Given the description of an element on the screen output the (x, y) to click on. 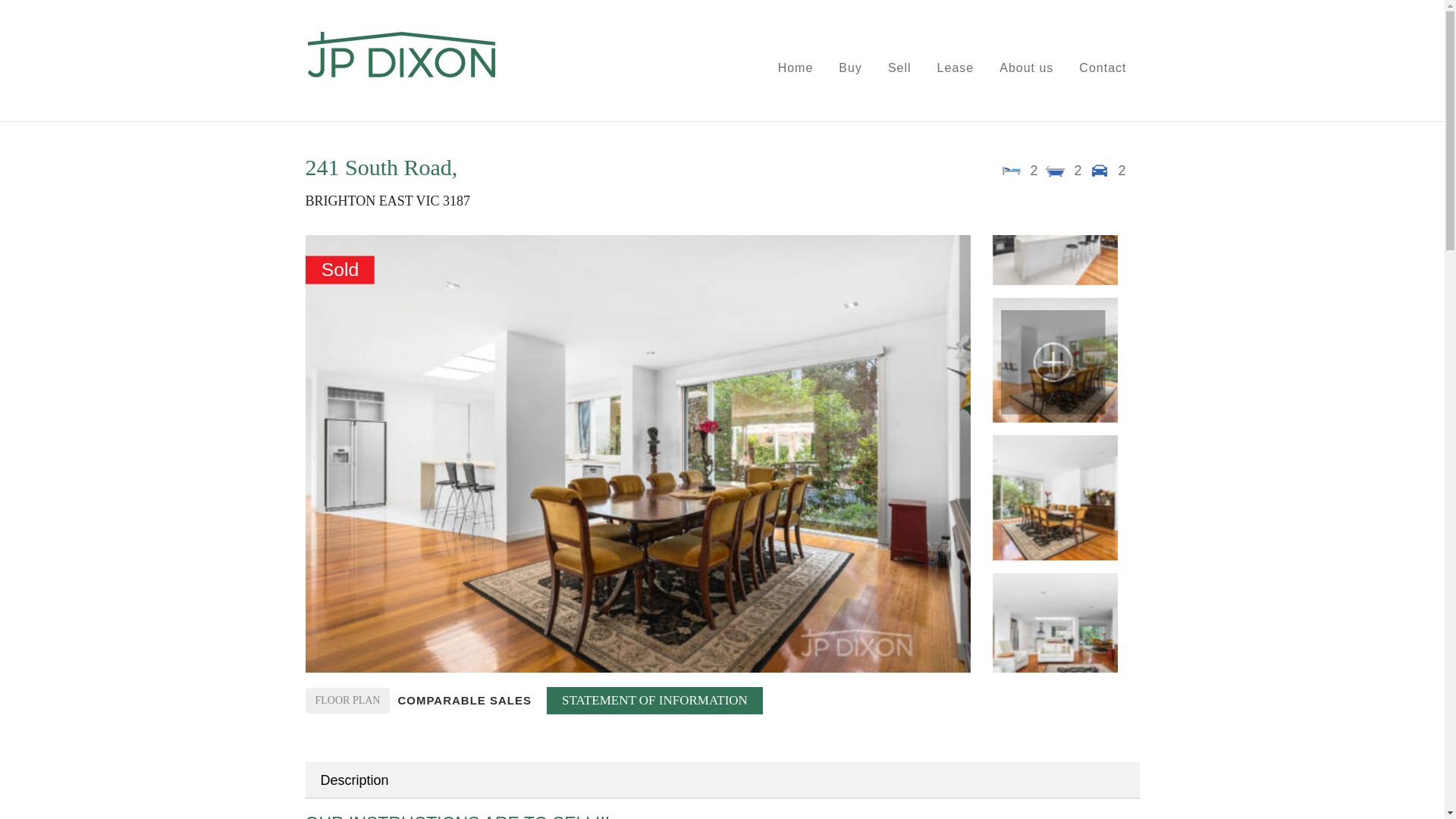
About us (1026, 68)
Bedrooms (1011, 169)
Contact (1101, 68)
Bathrooms (1055, 169)
Parking Spaces (1098, 169)
